Given the description of an element on the screen output the (x, y) to click on. 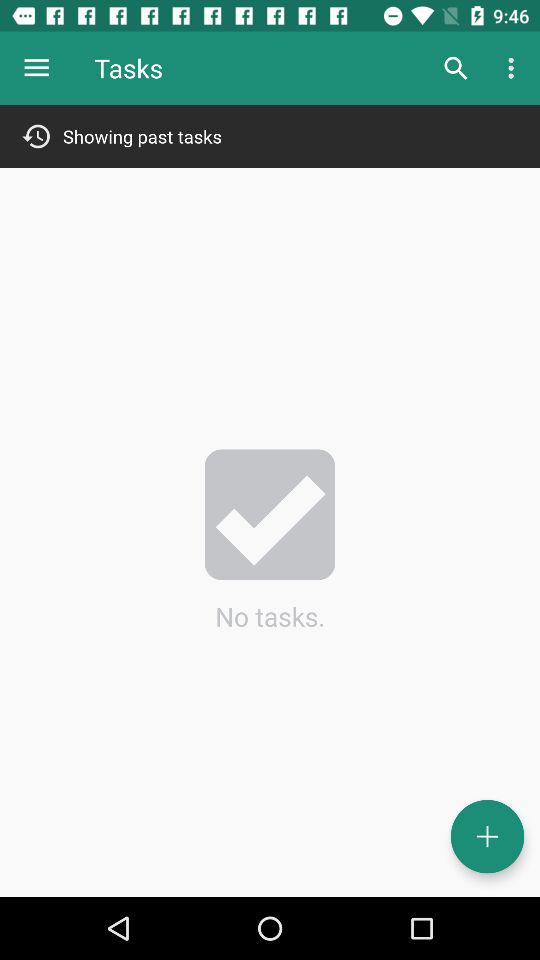
press item next to the tasks item (36, 68)
